Given the description of an element on the screen output the (x, y) to click on. 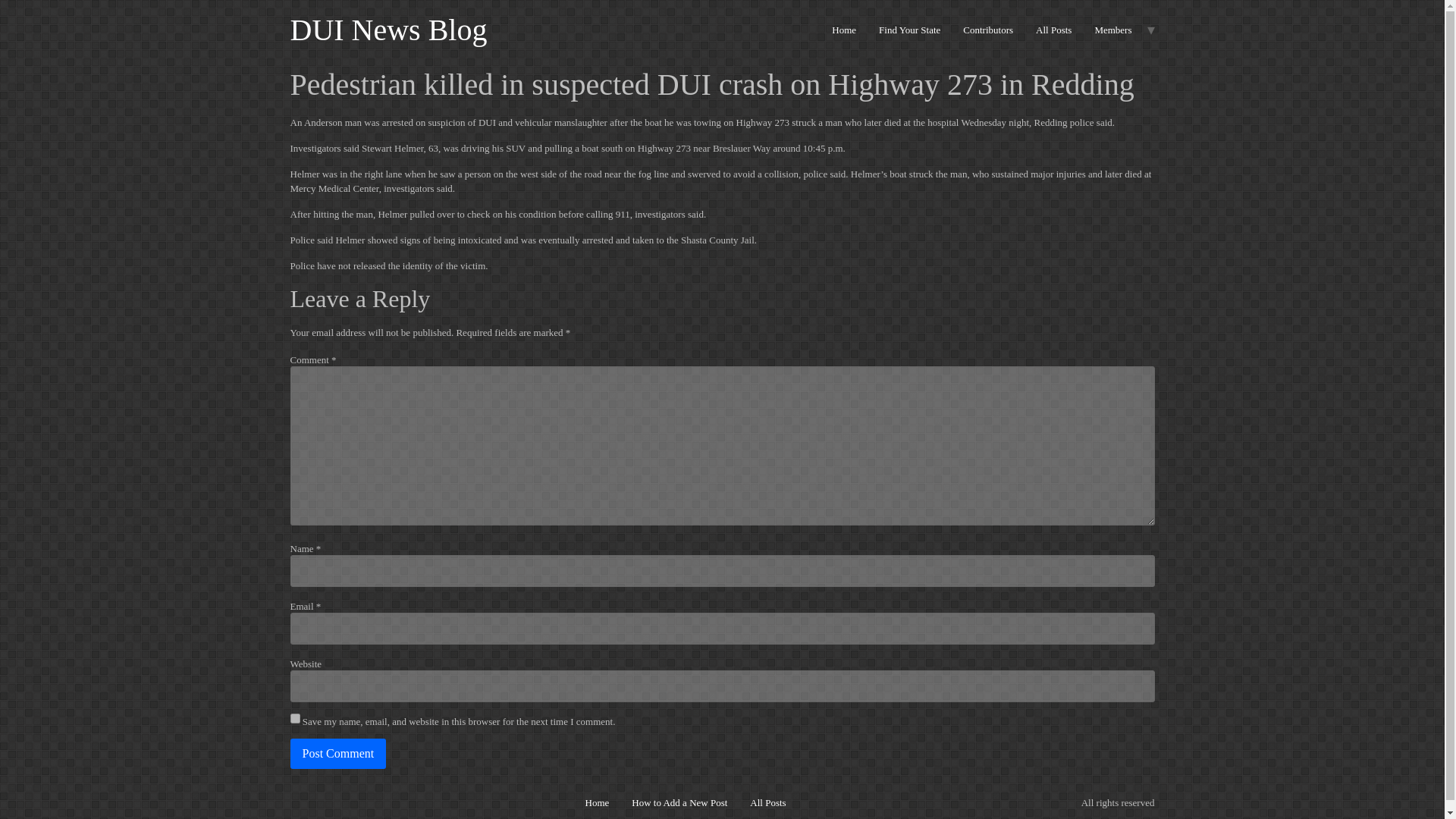
All Posts (767, 802)
Members (1112, 30)
Contributors (988, 30)
Post Comment (337, 753)
All Posts (1054, 30)
Home (844, 30)
yes (294, 718)
DUI News Blog (387, 29)
How to Add a New Post (679, 802)
Post Comment (337, 753)
